Given the description of an element on the screen output the (x, y) to click on. 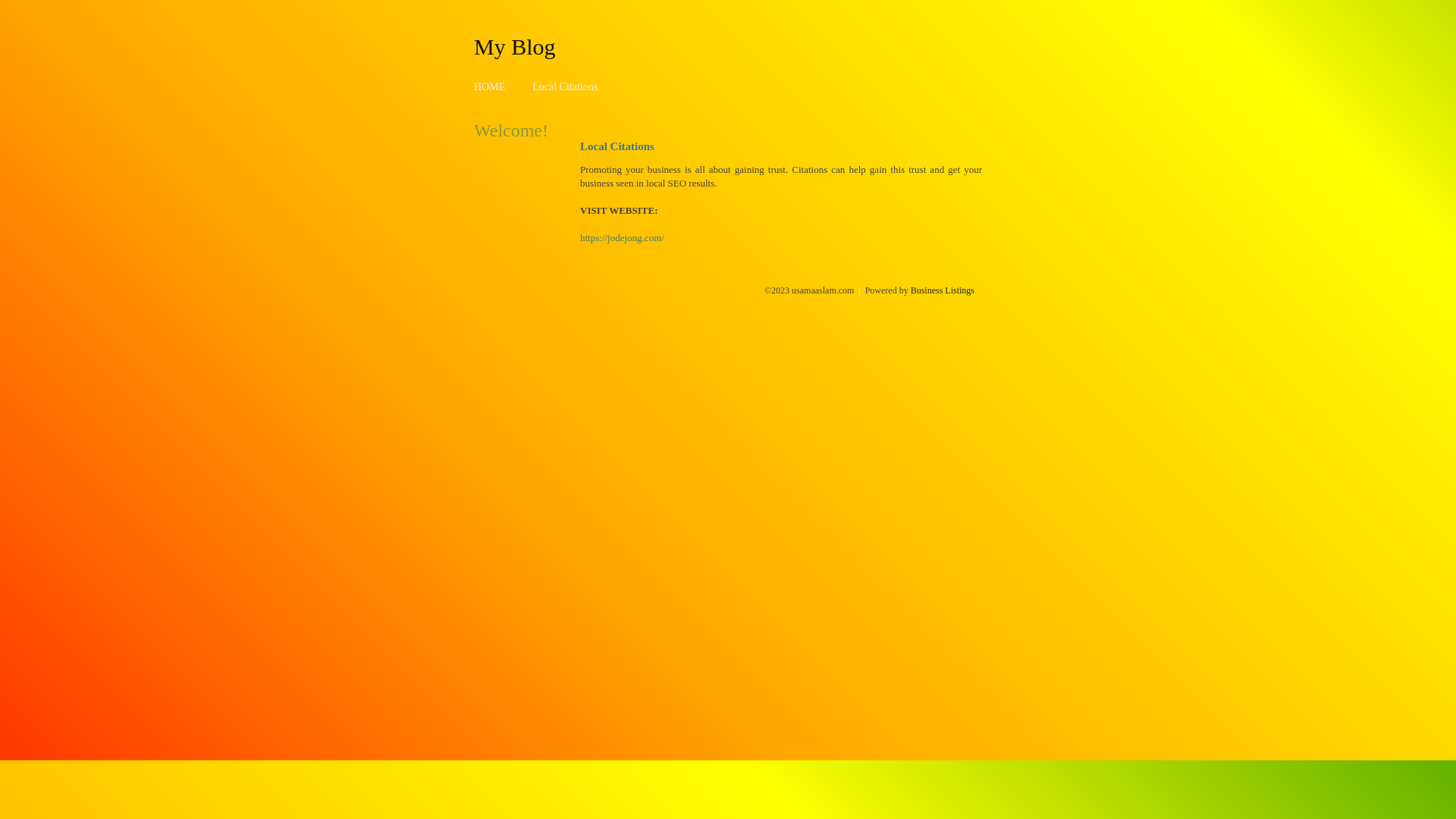
My Blog Element type: text (514, 46)
Business Listings Element type: text (942, 290)
https://jodejong.com/ Element type: text (622, 237)
Local Citations Element type: text (564, 86)
HOME Element type: text (489, 86)
